Given the description of an element on the screen output the (x, y) to click on. 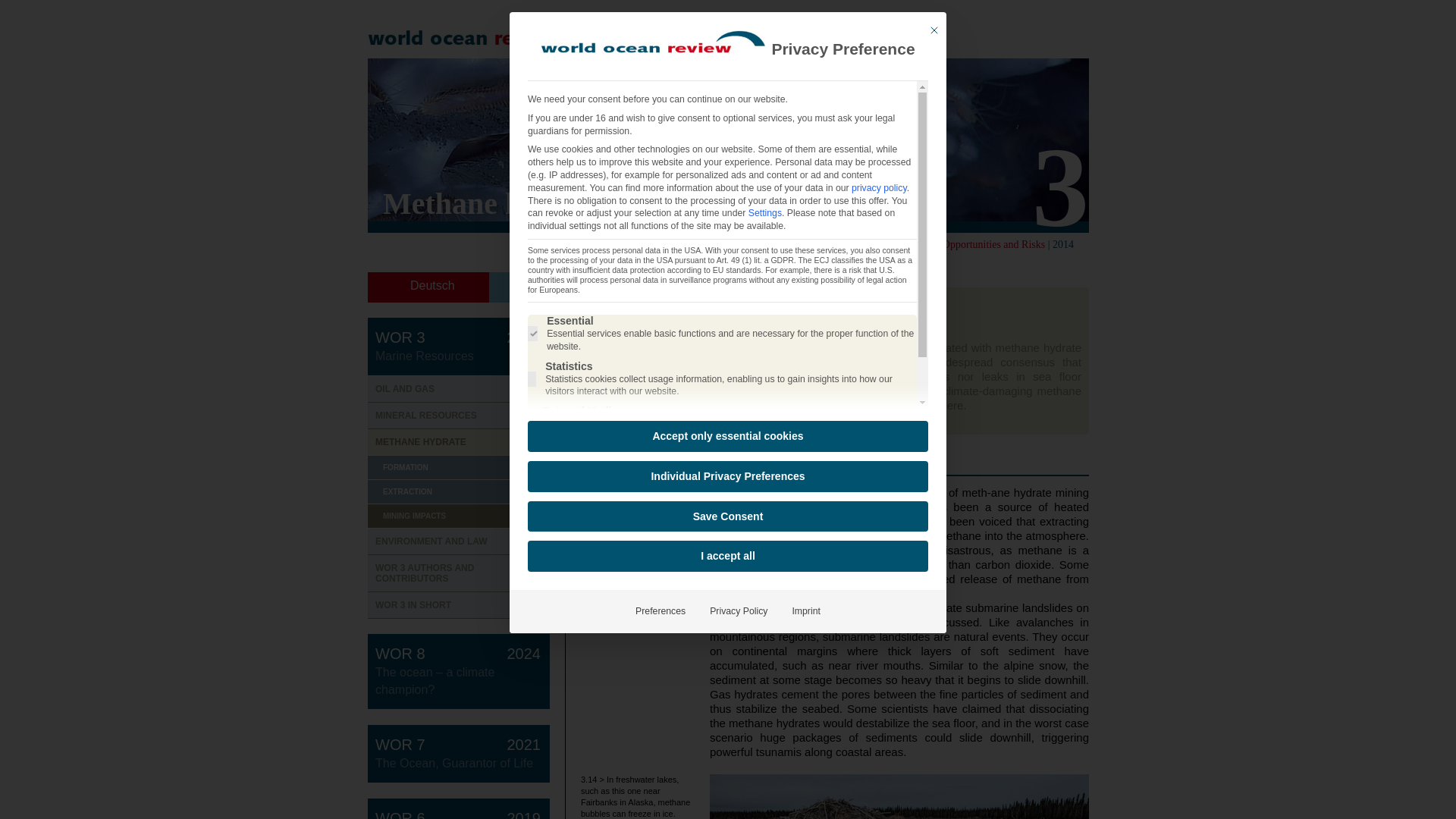
Deutsch (459, 388)
FORMATION (432, 285)
WOR 3 IN SHORT (459, 467)
WOR 3 AUTHORS AND CONTRIBUTORS (459, 605)
MINING IMPACTS (459, 541)
